Given the description of an element on the screen output the (x, y) to click on. 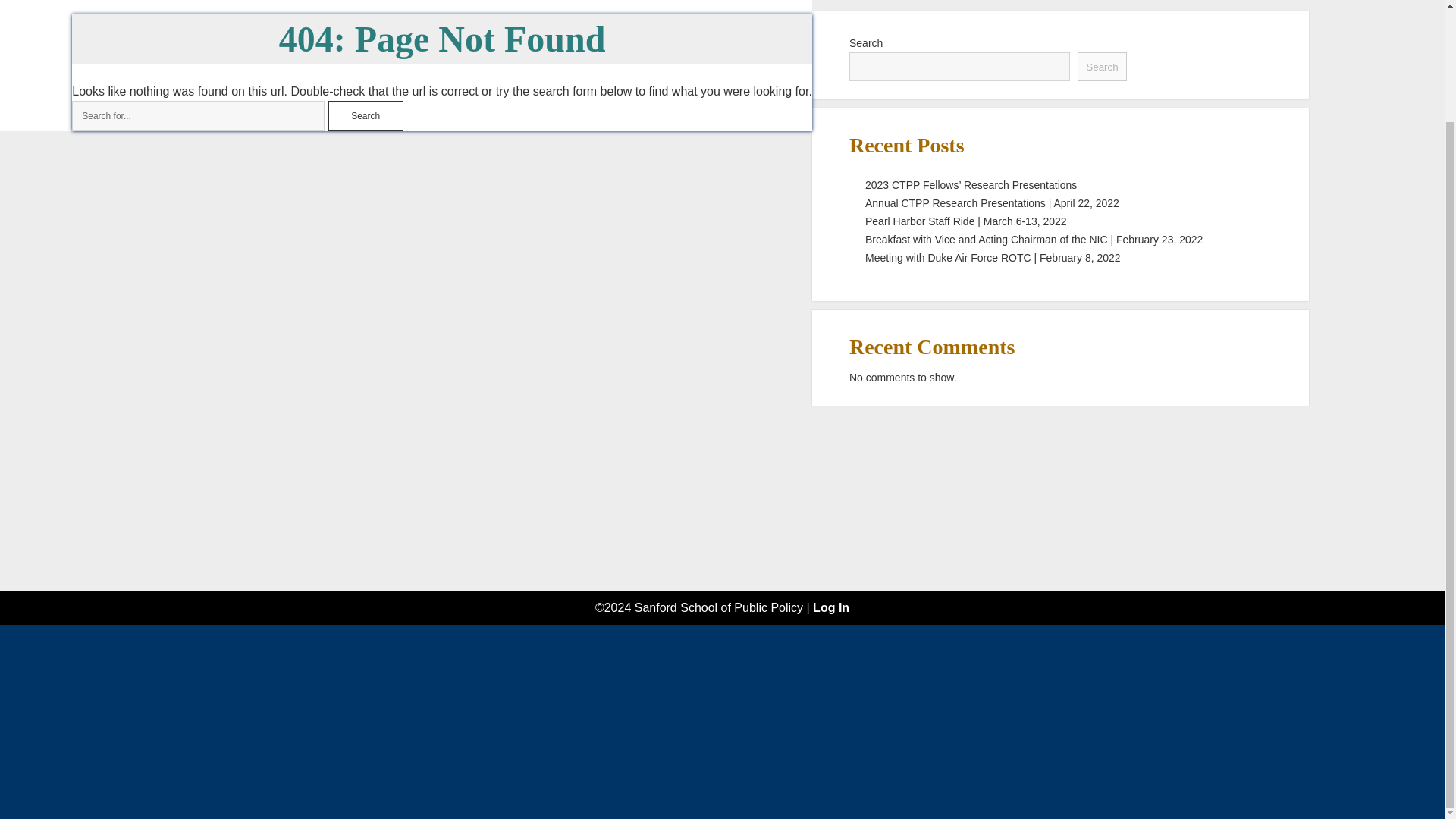
Search (366, 115)
Search for: (197, 115)
Log In (830, 607)
Search (1101, 66)
Search (366, 115)
Search (366, 115)
